Given the description of an element on the screen output the (x, y) to click on. 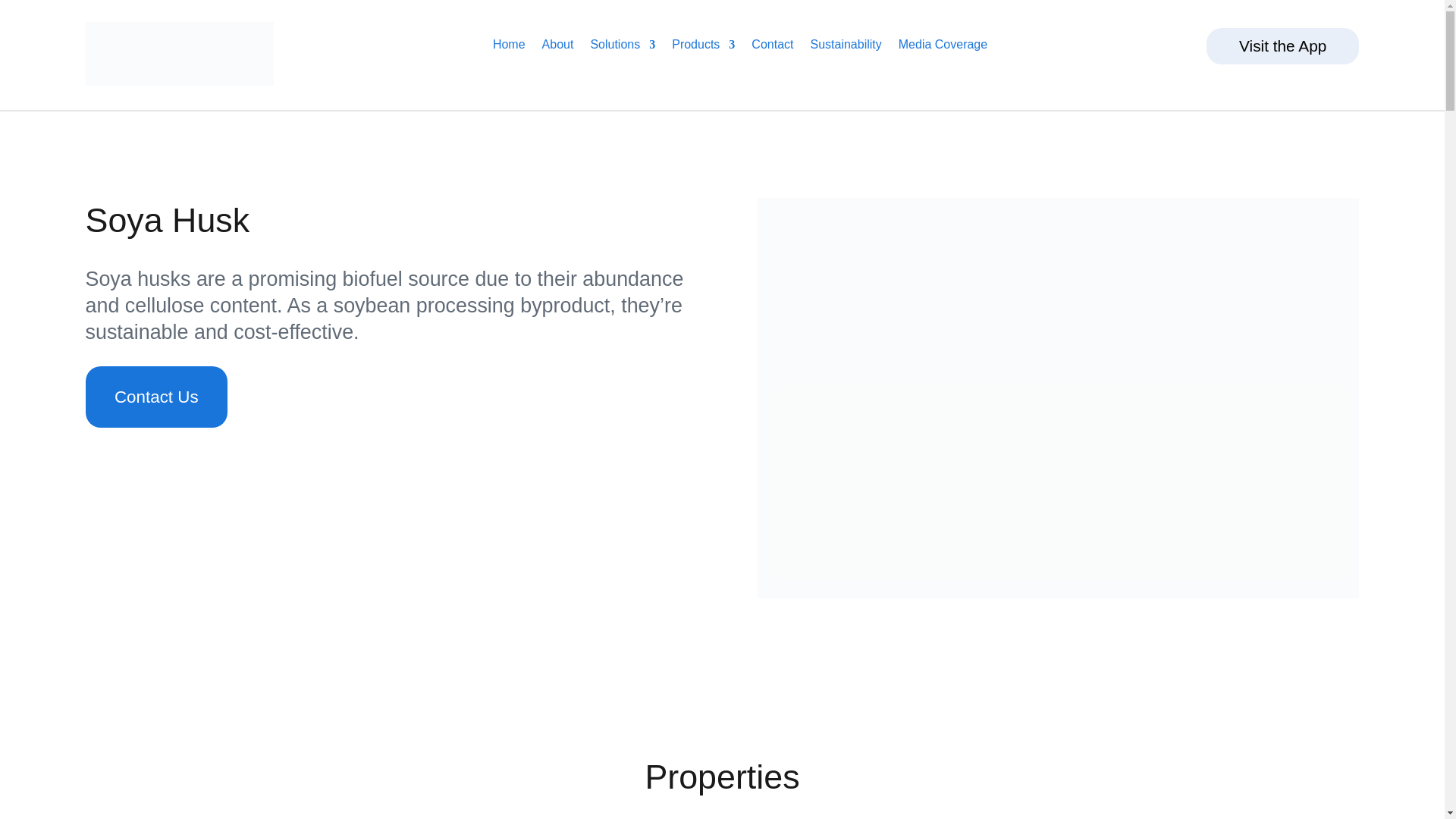
Contact Us (155, 396)
Contact (772, 47)
Sustainability (844, 47)
Products (703, 47)
Visit the App (1283, 45)
buyofuel-new-logo (178, 53)
About (557, 47)
Home (509, 47)
Media Coverage (942, 47)
Solutions (622, 47)
